Given the description of an element on the screen output the (x, y) to click on. 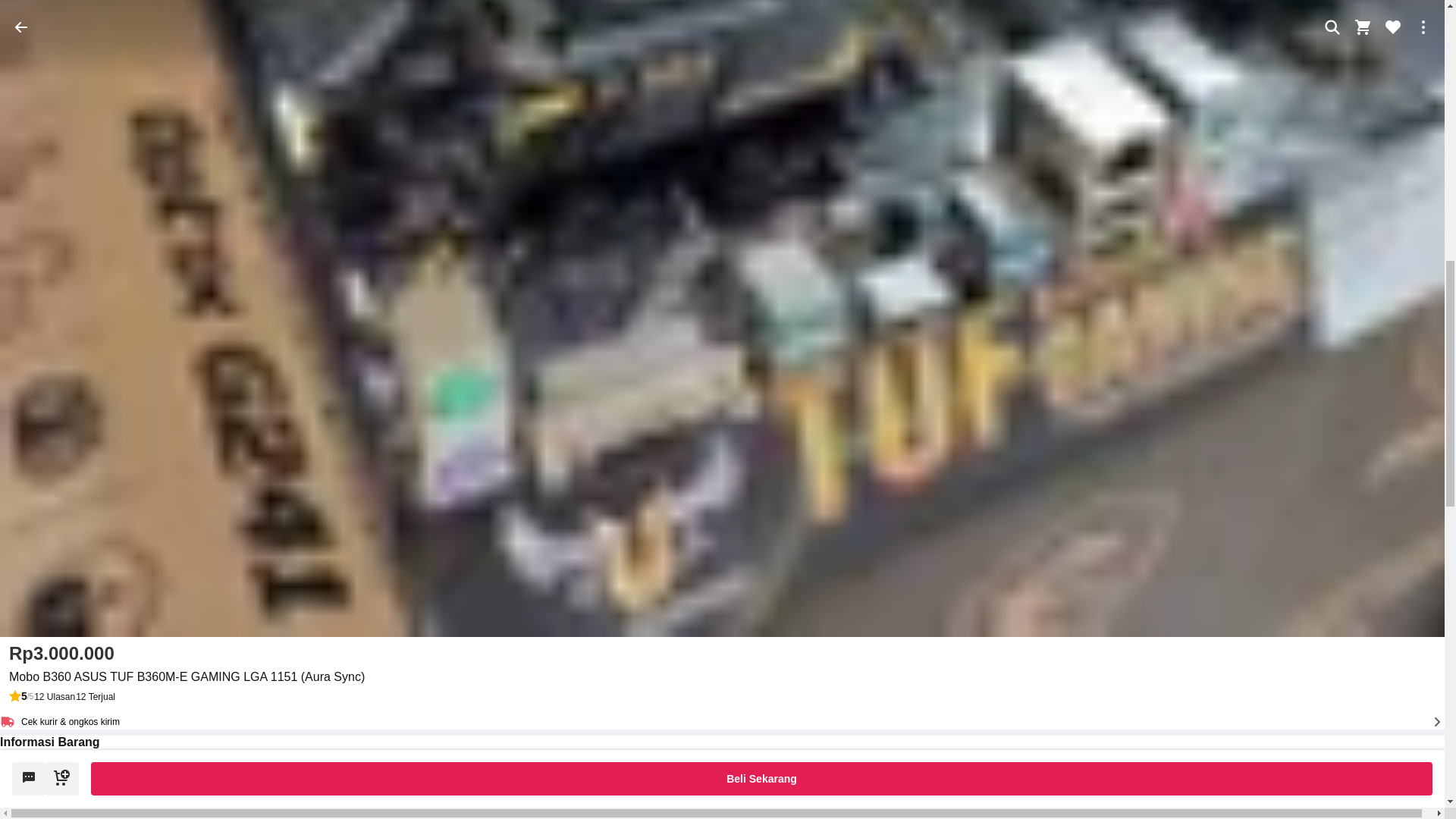
Asus (565, 797)
Motherboard (585, 756)
